Given the description of an element on the screen output the (x, y) to click on. 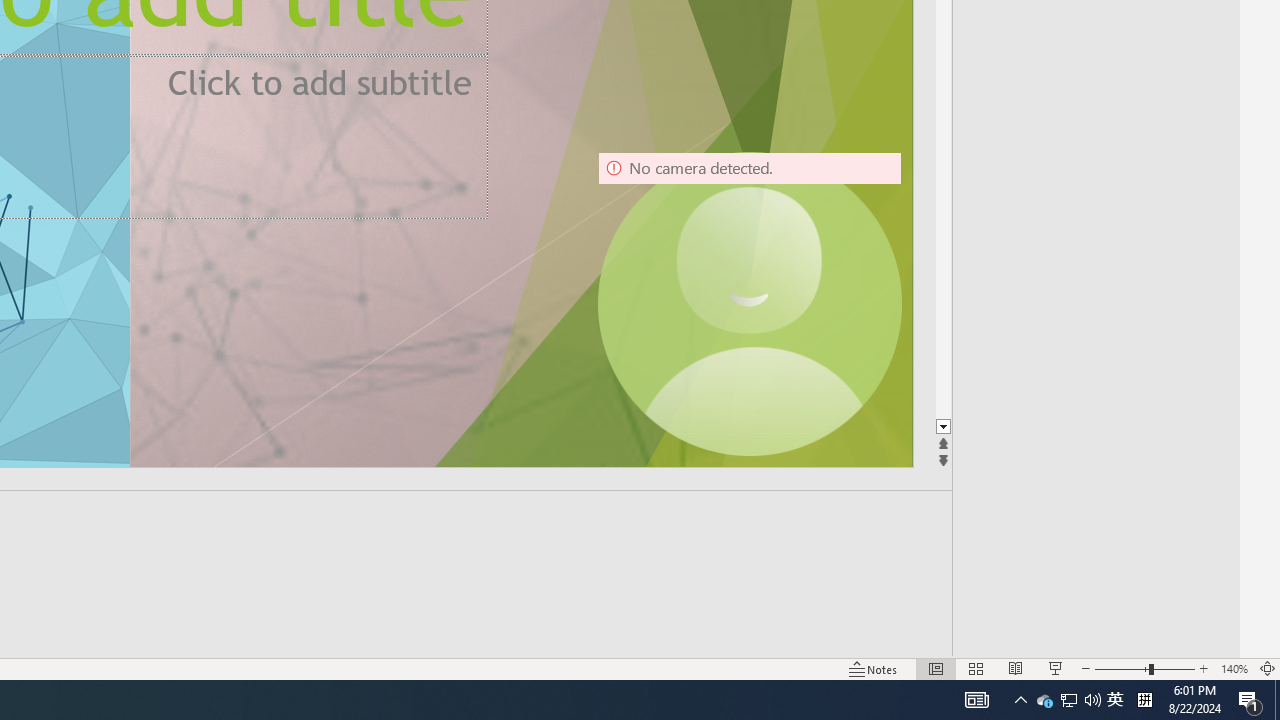
Camera 16, No camera detected. (749, 304)
Zoom 140% (1234, 668)
